Given the description of an element on the screen output the (x, y) to click on. 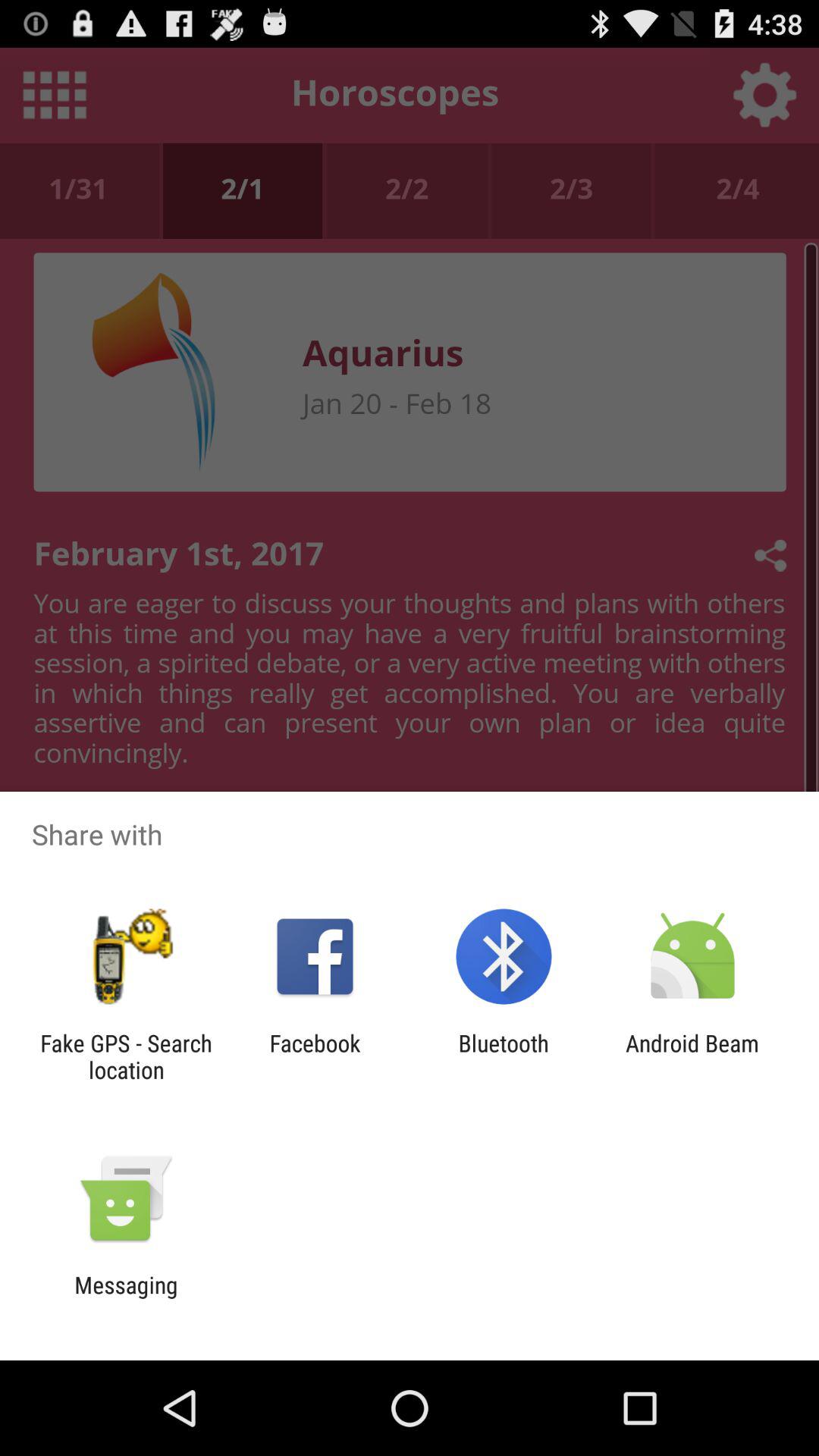
flip until messaging item (126, 1298)
